Given the description of an element on the screen output the (x, y) to click on. 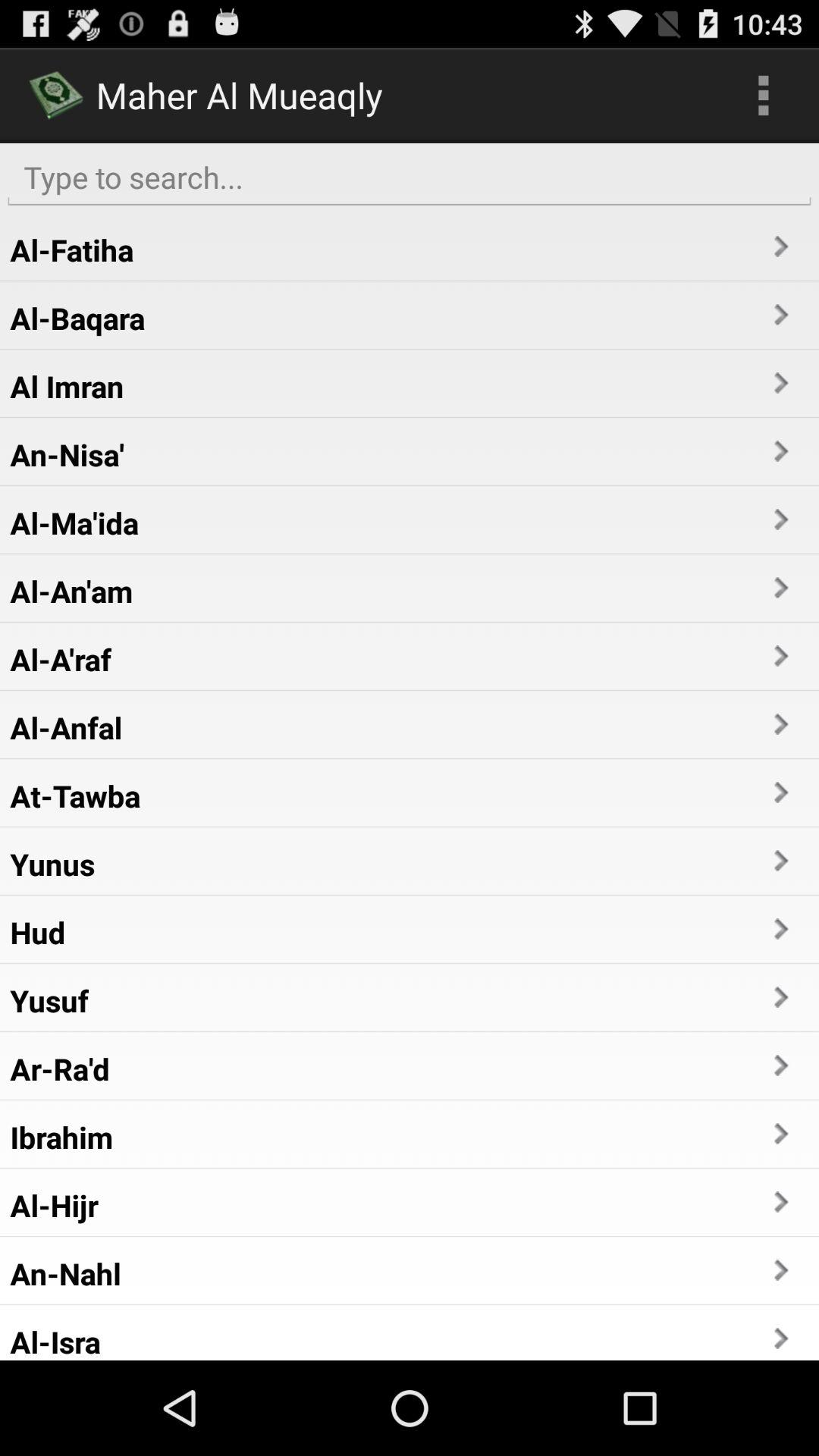
open the icon to the right of the al-fatiha app (779, 246)
